Given the description of an element on the screen output the (x, y) to click on. 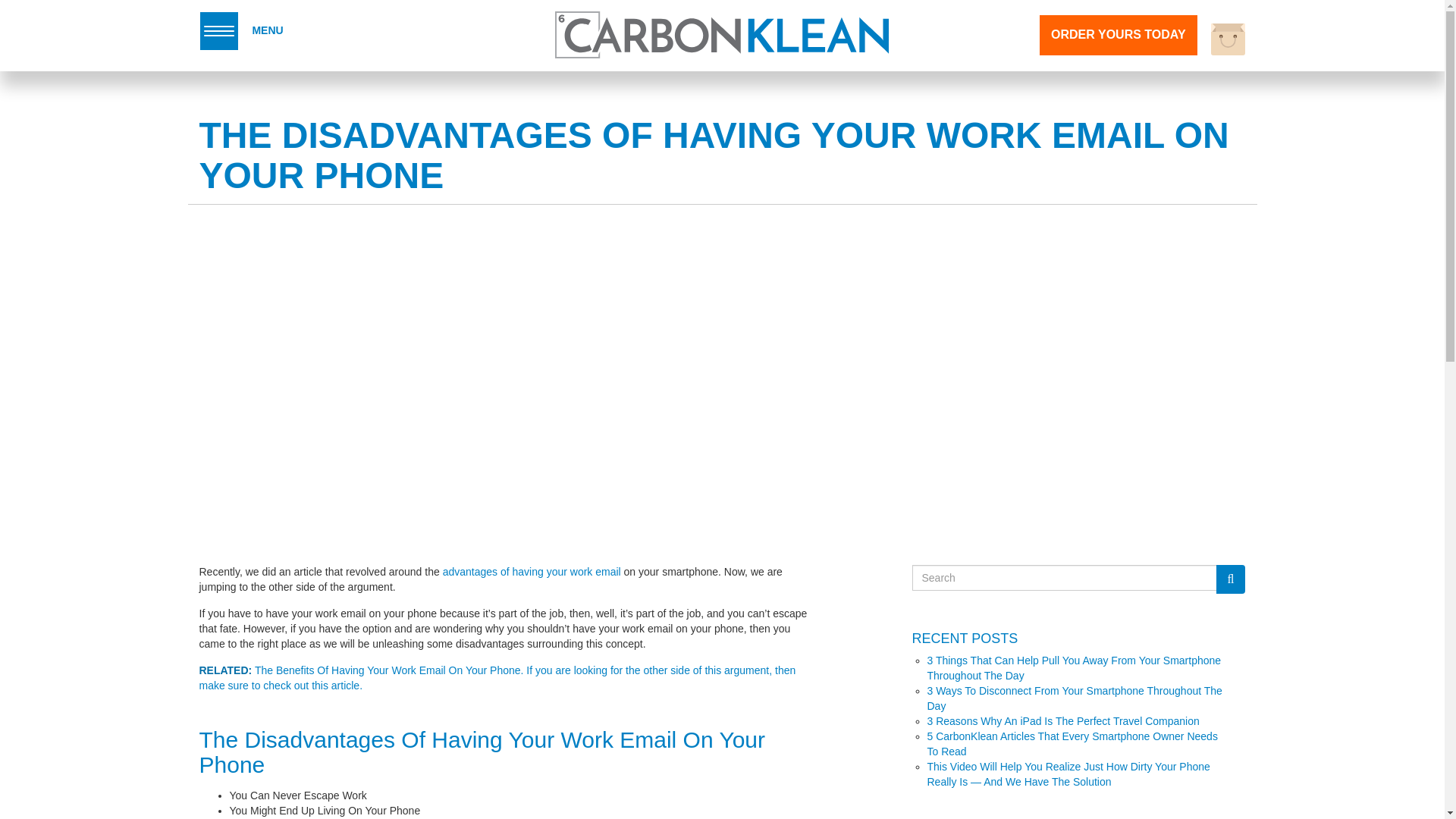
MENU (240, 30)
advantages of having your work email (531, 571)
3 Ways To Disconnect From Your Smartphone Throughout The Day (1073, 697)
ORDER YOURS TODAY (1117, 35)
View your shopping cart (1227, 39)
3 Reasons Why An iPad Is The Perfect Travel Companion (1062, 720)
